Given the description of an element on the screen output the (x, y) to click on. 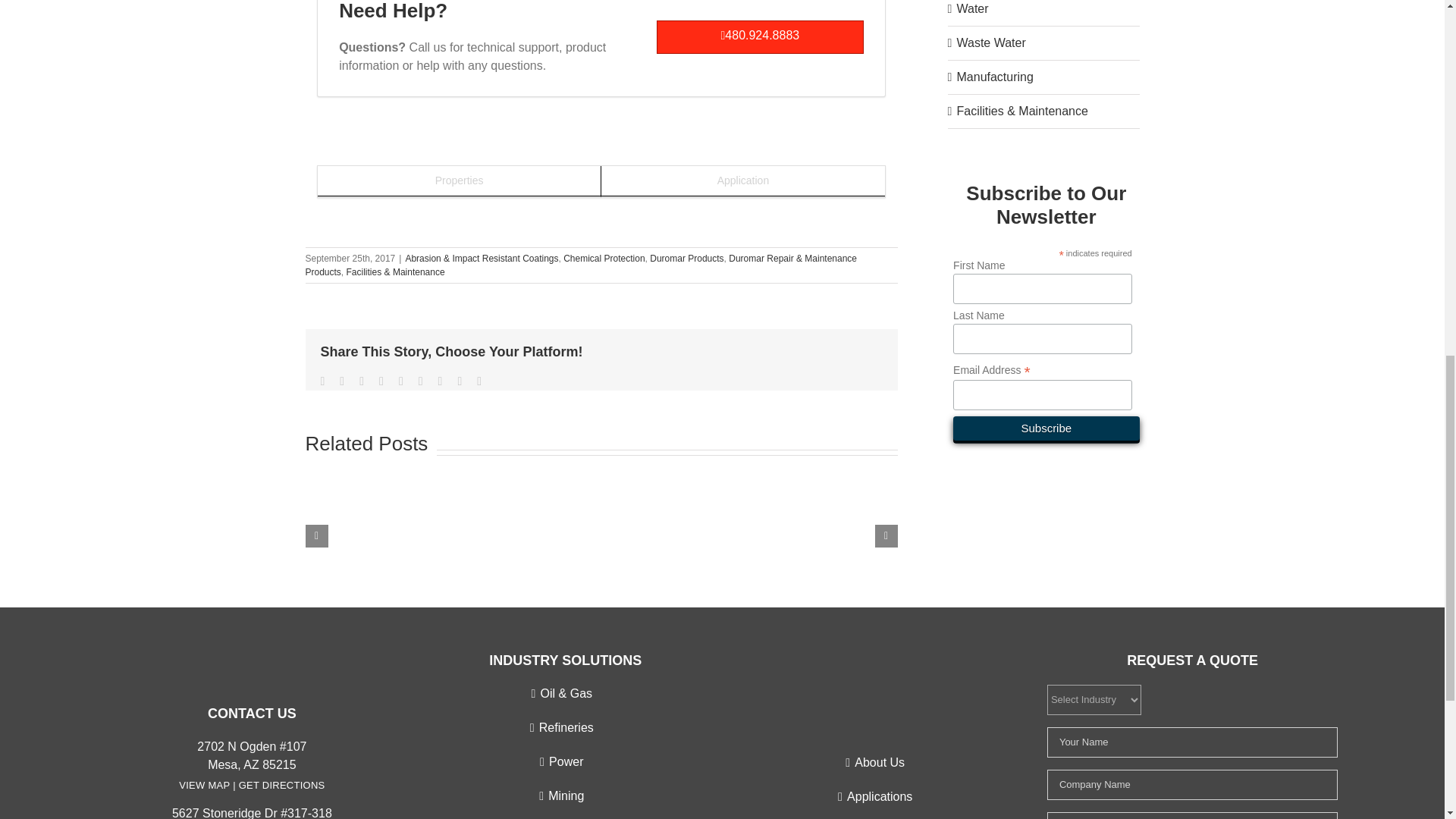
Subscribe (1045, 428)
